Given the description of an element on the screen output the (x, y) to click on. 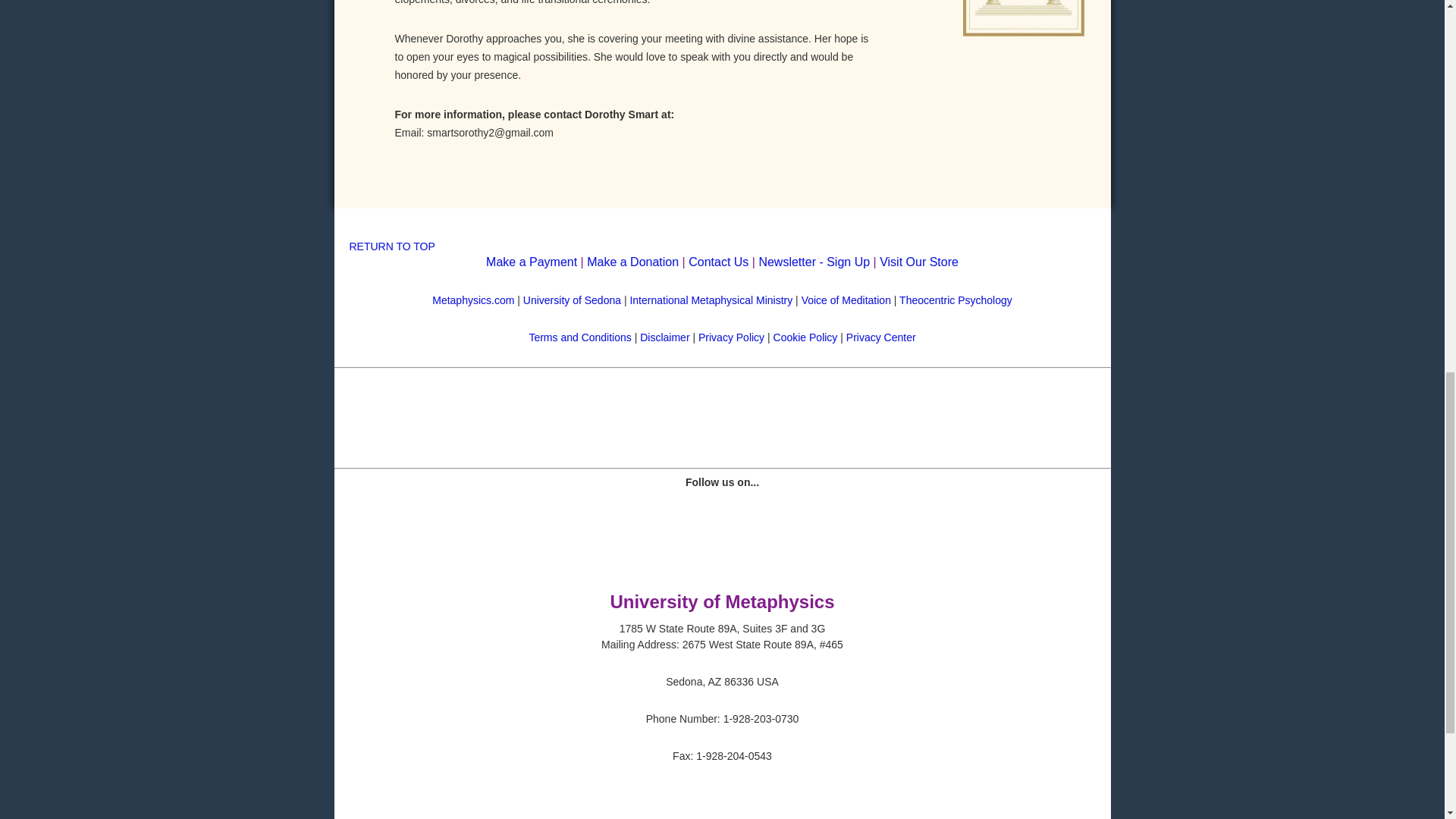
RETURN TO TOP (391, 246)
How PayPal Works (722, 438)
